Given the description of an element on the screen output the (x, y) to click on. 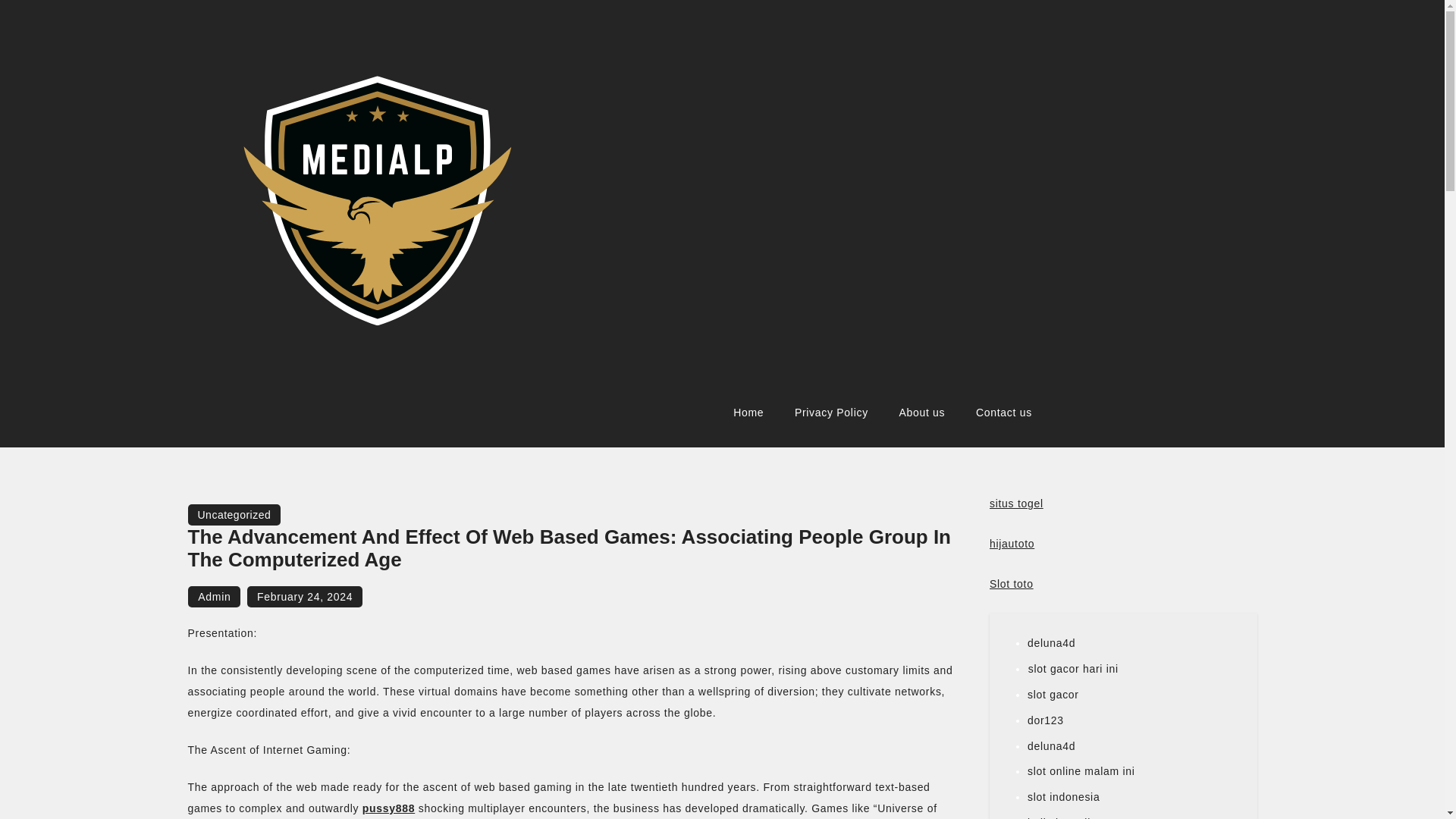
slot online malam ini (1081, 770)
Contact us (1003, 412)
hijautoto (1011, 543)
situs togel (1016, 503)
pussy888 (388, 808)
About us (921, 412)
slot indonesia (1063, 797)
Slot toto (1011, 583)
Home (748, 412)
February 24, 2024 (304, 596)
Uncategorized (234, 514)
judi slot online (1065, 817)
dor123 (1045, 720)
situs togel (1016, 503)
deluna4d (1051, 643)
